Given the description of an element on the screen output the (x, y) to click on. 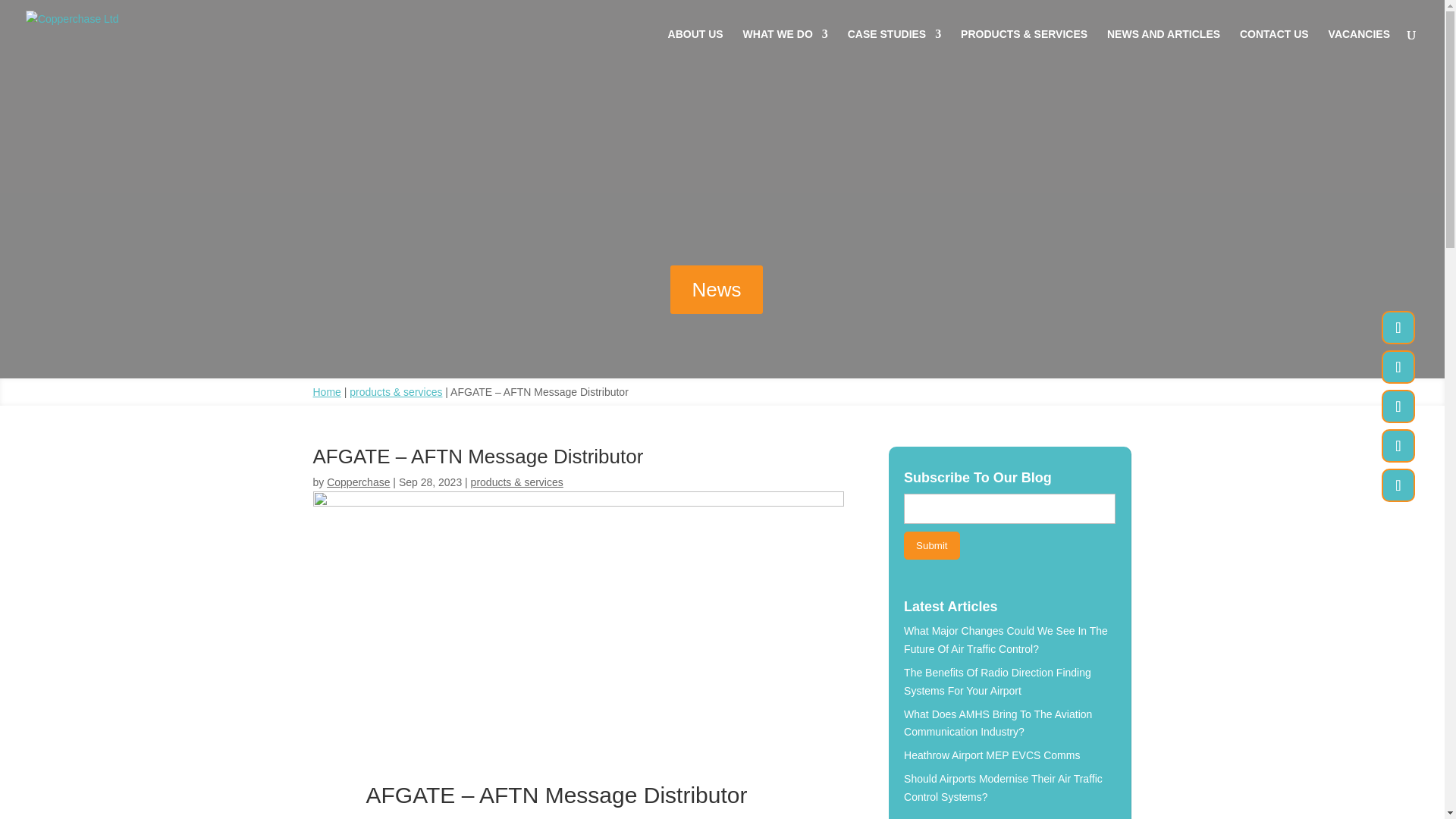
WHAT WE DO (785, 47)
Follow on LinkedIn (1398, 445)
Copperchase (358, 481)
Posts by Copperchase (358, 481)
CASE STUDIES (893, 47)
Should Airports Modernise Their Air Traffic Control Systems? (1003, 788)
NEWS AND ARTICLES (1163, 47)
News (715, 289)
